Given the description of an element on the screen output the (x, y) to click on. 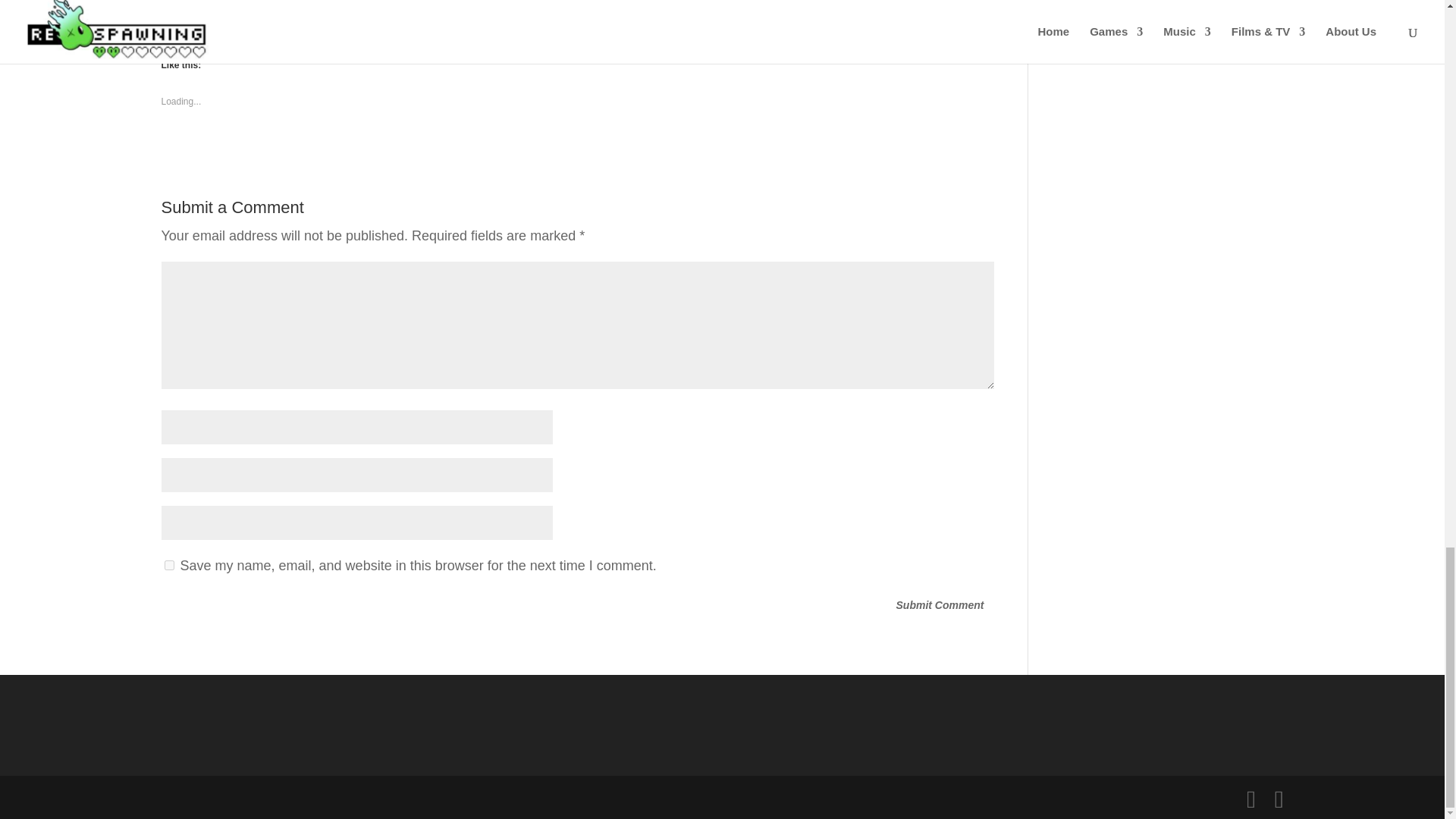
Facebook (198, 15)
yes (168, 565)
Click to share on X (263, 15)
Submit Comment (939, 605)
X (263, 15)
Click to share on Facebook (198, 15)
